Given the description of an element on the screen output the (x, y) to click on. 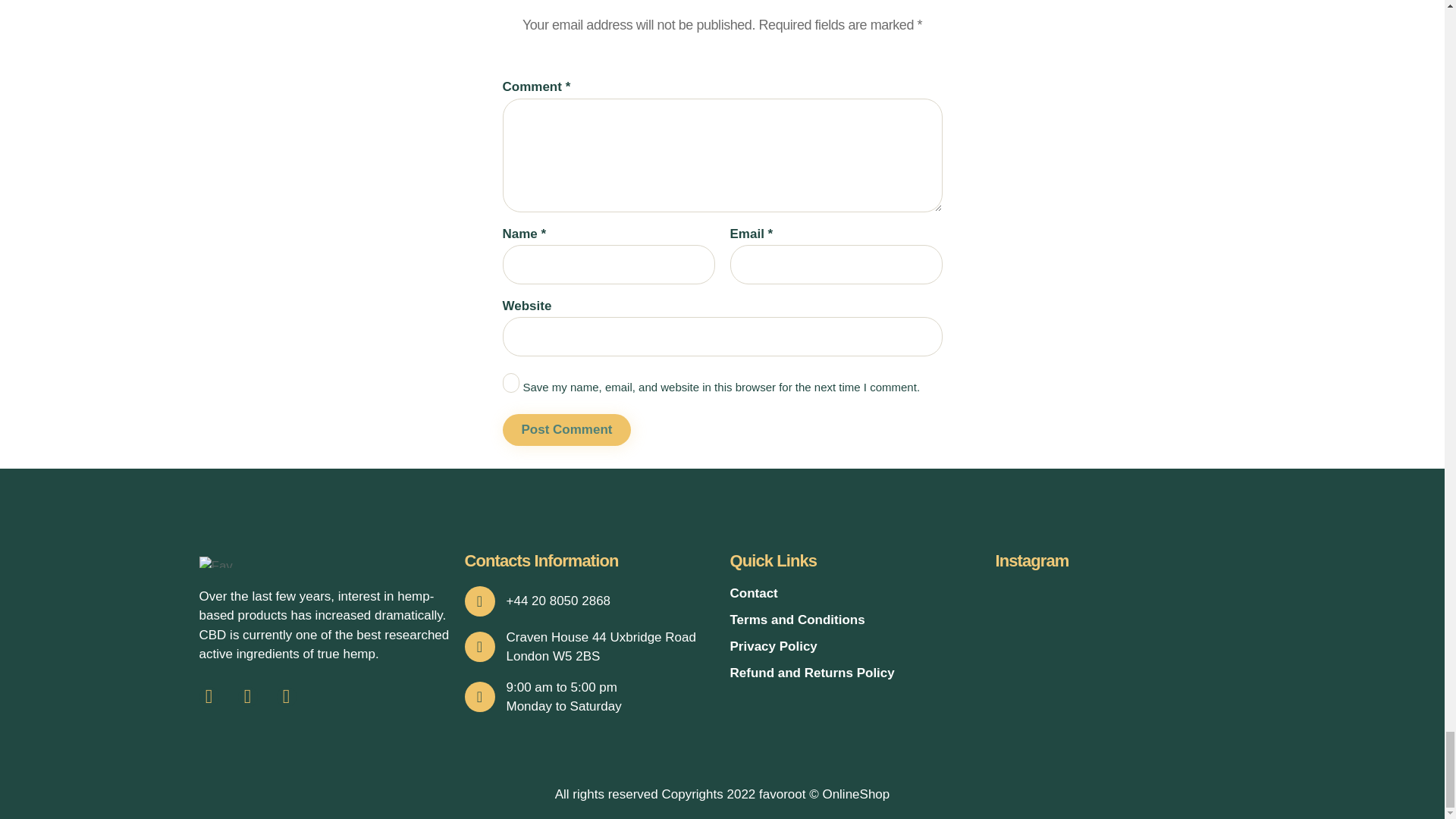
Terms and Conditions (854, 620)
Refund and Returns Policy (854, 672)
Privacy Policy (854, 646)
Post Comment (566, 430)
Post Comment (566, 430)
Contact (854, 593)
